Given the description of an element on the screen output the (x, y) to click on. 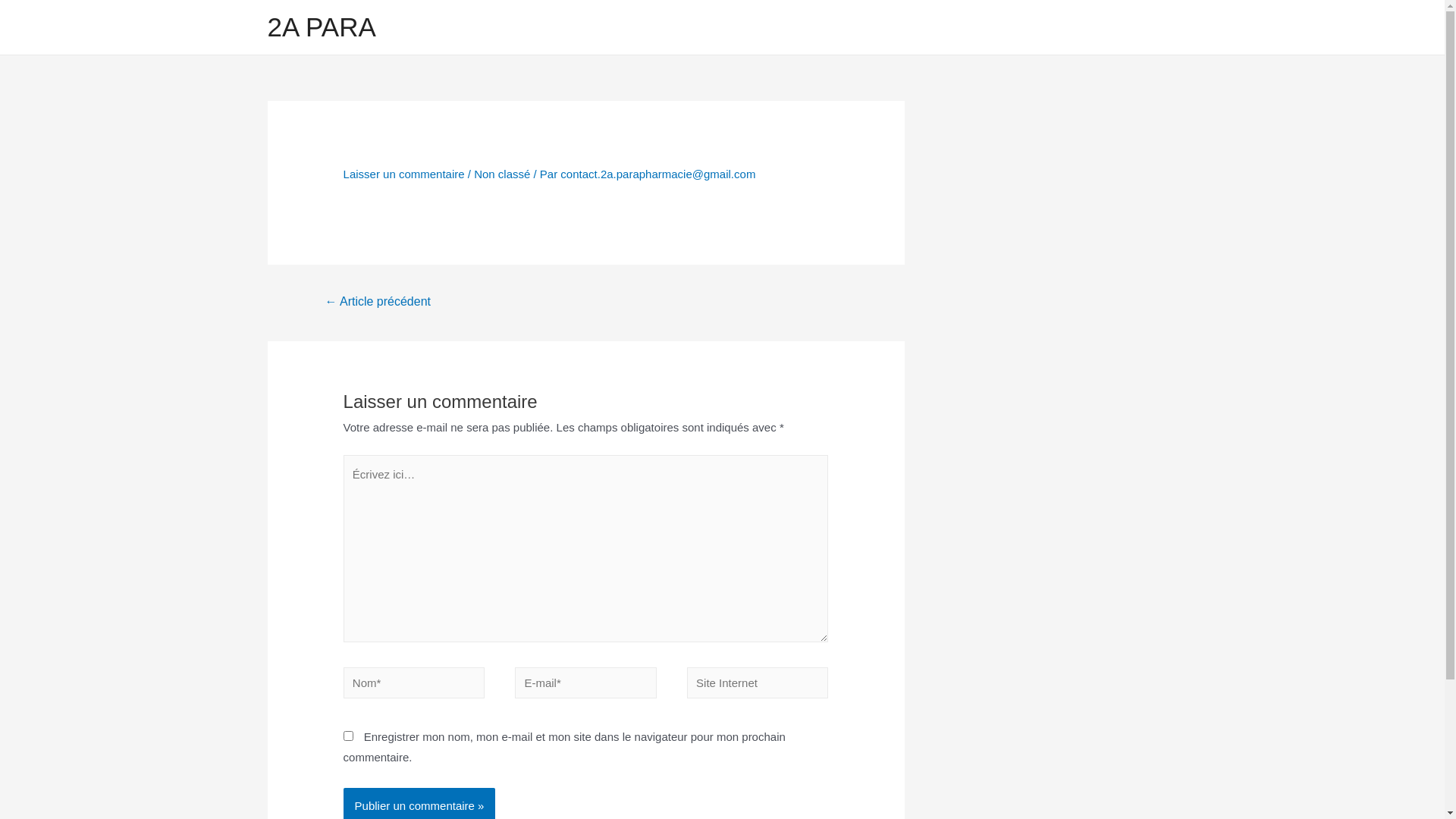
Laisser un commentaire Element type: text (403, 173)
2A PARA Element type: text (320, 26)
contact.2a.parapharmacie@gmail.com Element type: text (657, 173)
